Given the description of an element on the screen output the (x, y) to click on. 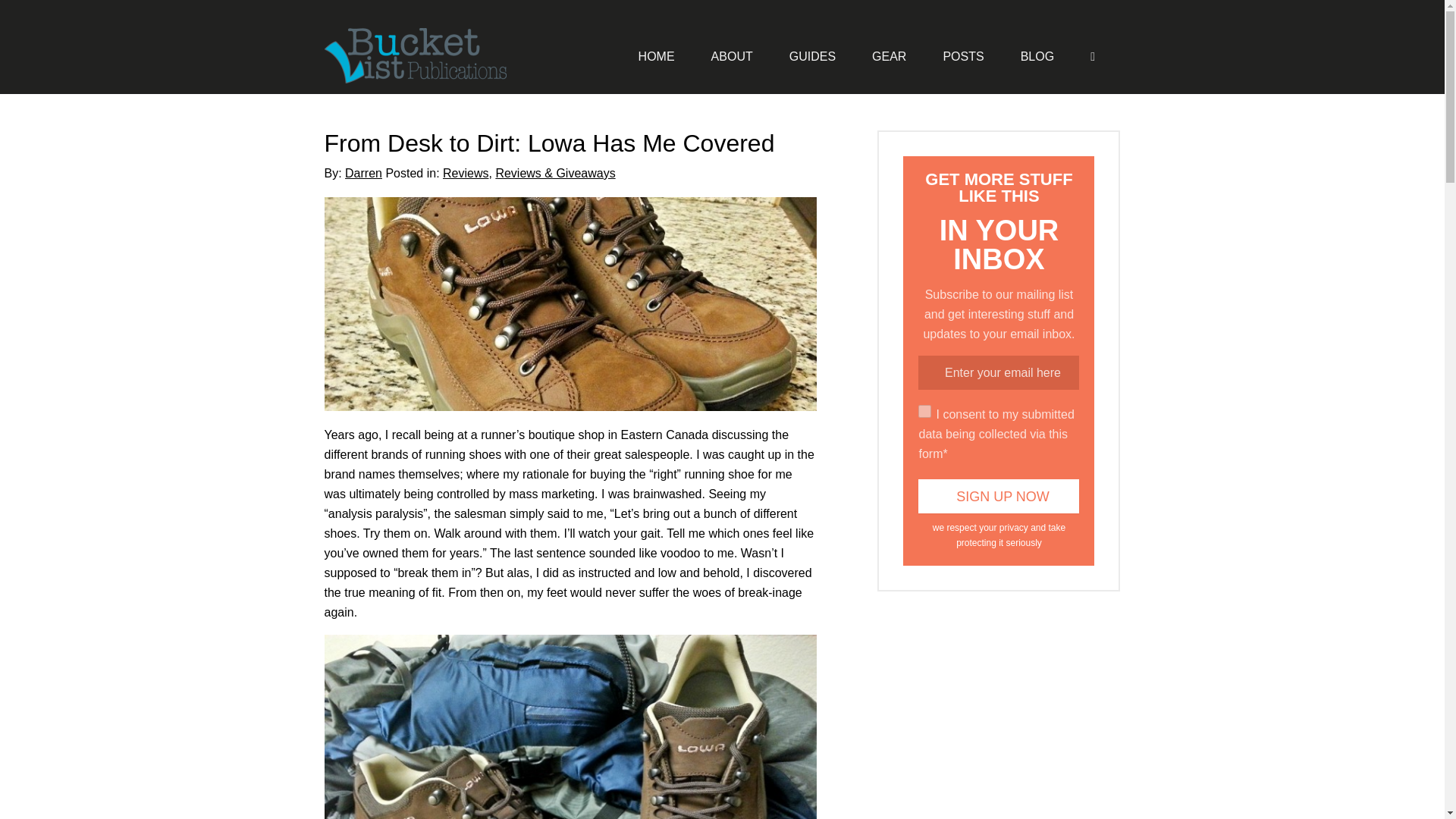
ABOUT (731, 56)
Sign Up Now (998, 496)
GEAR (889, 56)
GUIDES (812, 56)
POSTS (962, 56)
Posts by Darren (363, 173)
Bucket List Publications (430, 56)
HOME (656, 56)
on (924, 410)
